Given the description of an element on the screen output the (x, y) to click on. 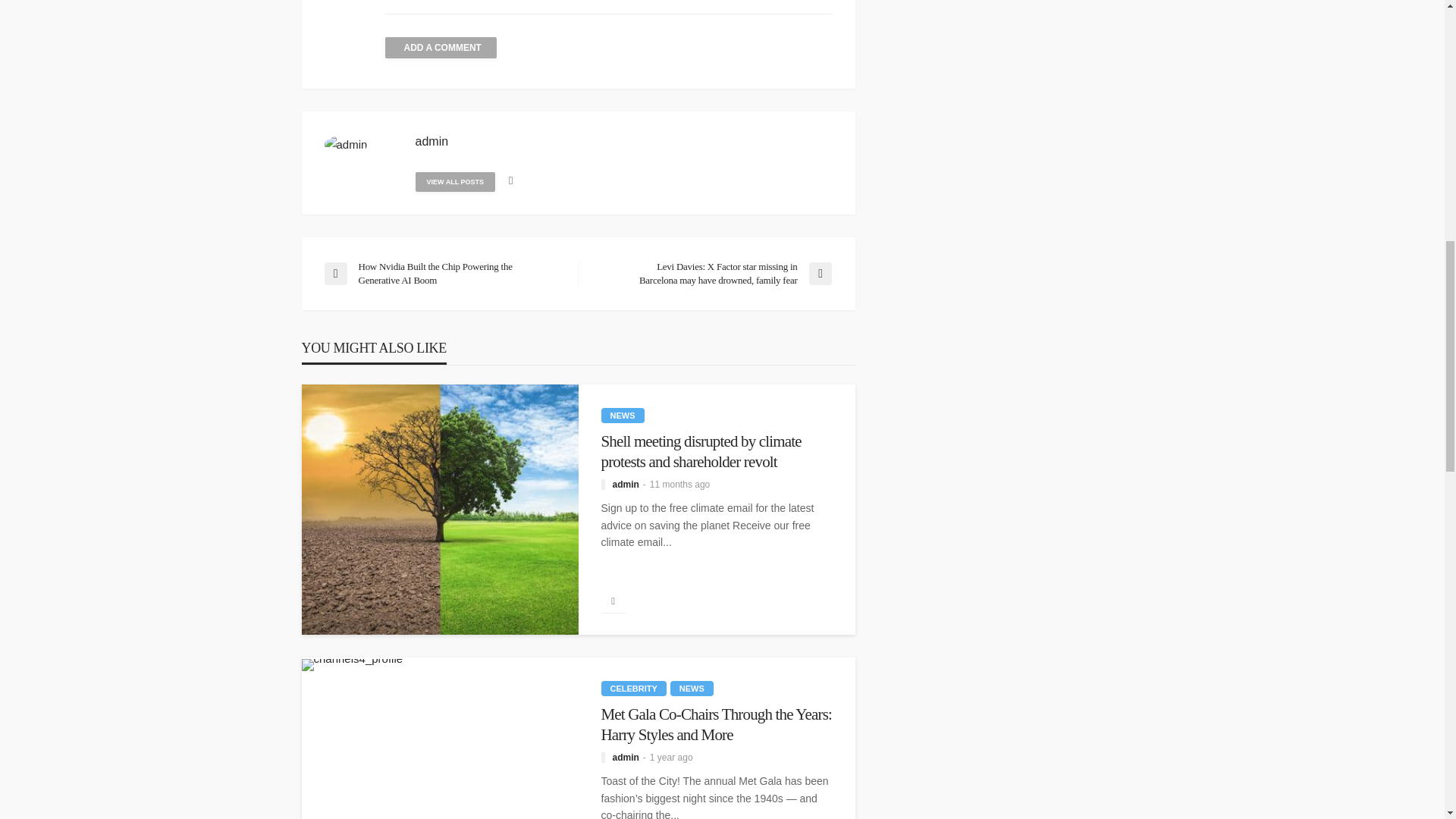
News (621, 415)
Met Gala Co-Chairs Through the Years: Harry Styles and More (352, 664)
How Nvidia Built the Chip Powering the Generative AI Boom (443, 273)
Met Gala Co-Chairs Through the Years: Harry Styles and More (715, 724)
Celebrity (632, 688)
News (691, 688)
